Given the description of an element on the screen output the (x, y) to click on. 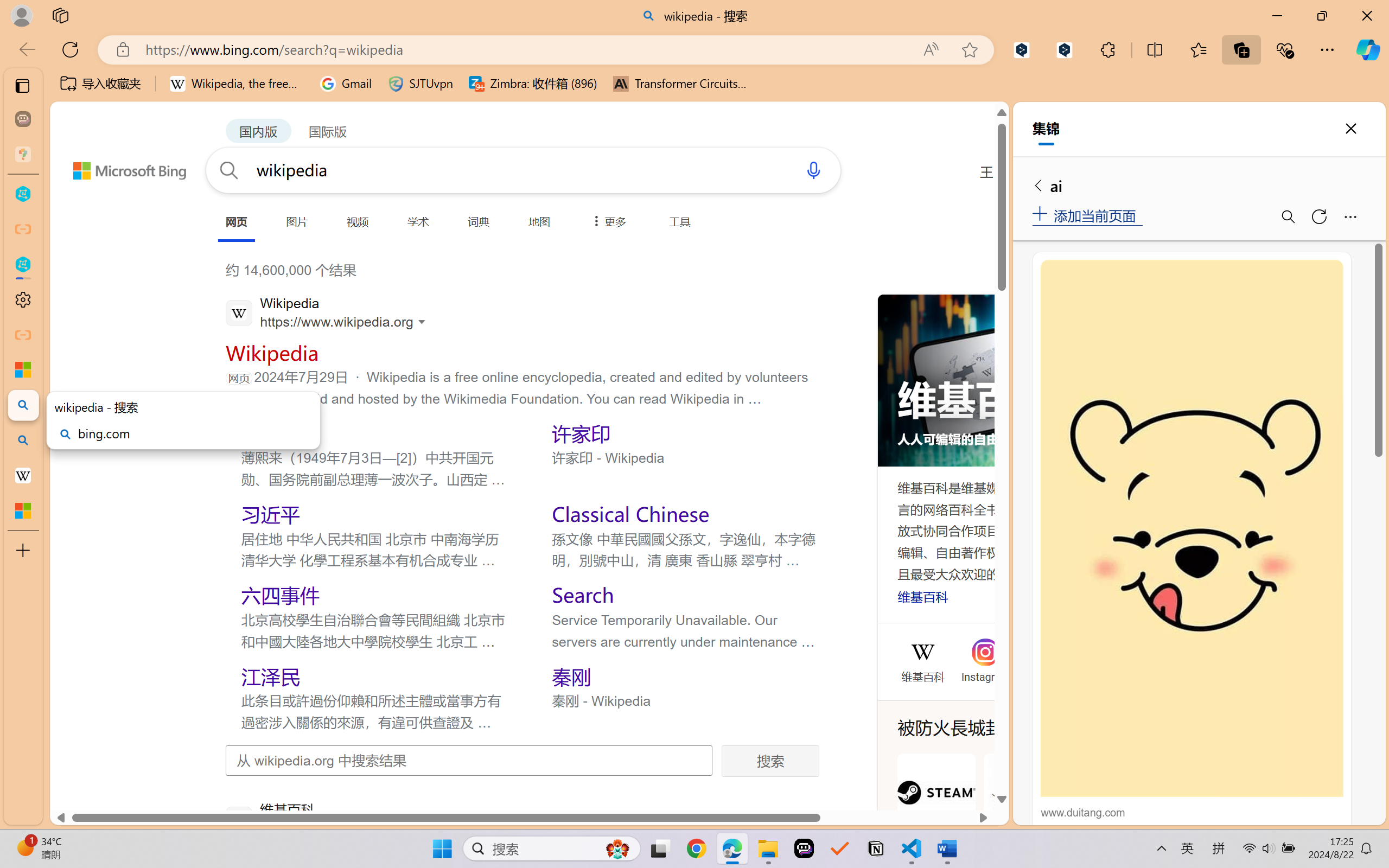
wangyian_dsw - DSW (22, 194)
Transformer Circuits Thread (680, 83)
